Given the description of an element on the screen output the (x, y) to click on. 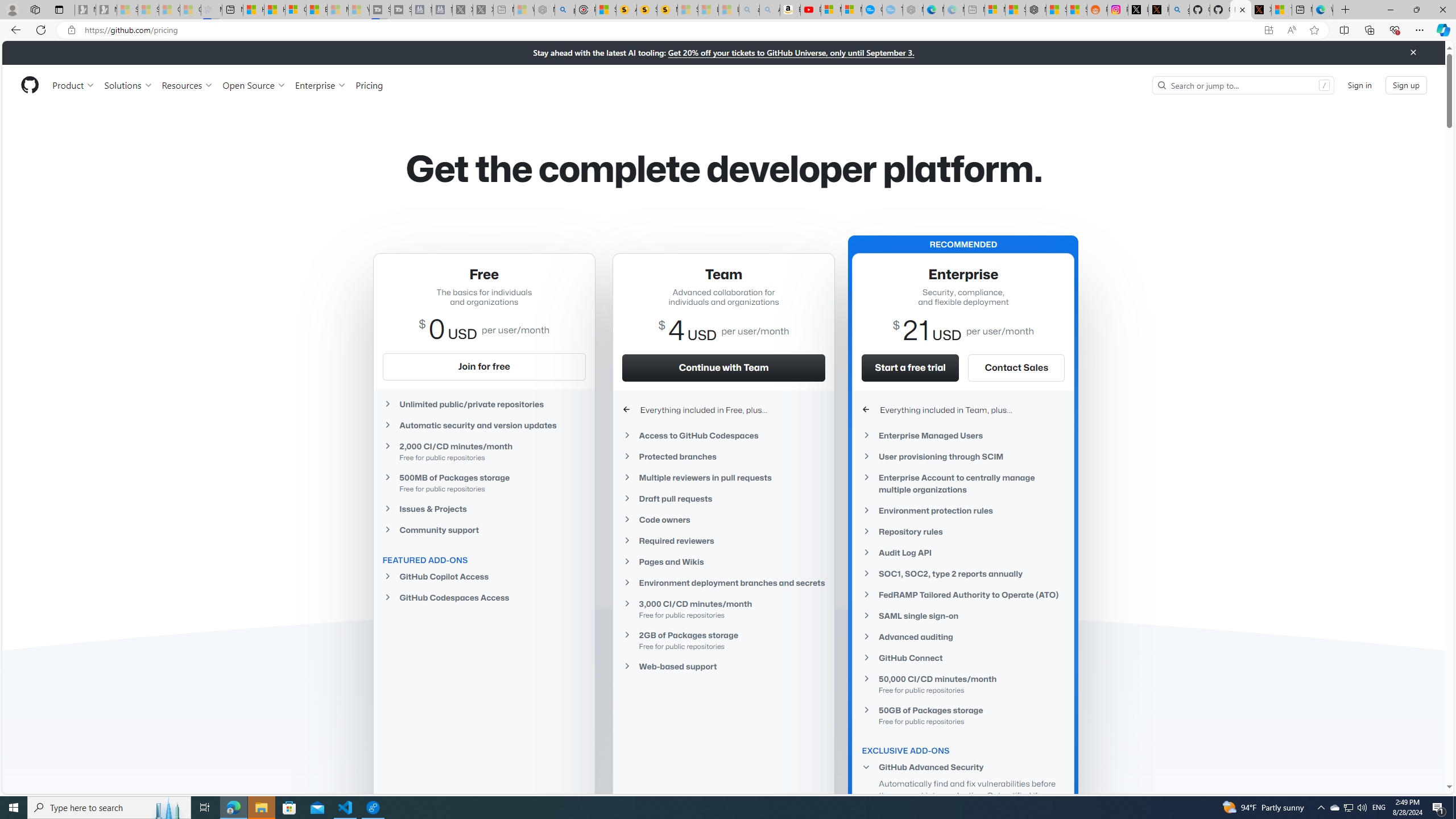
Microsoft account | Microsoft Account Privacy Settings (994, 9)
Welcome to Microsoft Edge (1322, 9)
Draft pull requests (723, 498)
Sign up (1406, 84)
2,000 CI/CD minutes/month Free for public repositories (483, 451)
2GB of Packages storage Free for public repositories (723, 640)
Nordace - Nordace has arrived Hong Kong - Sleeping (913, 9)
50GB of Packages storage Free for public repositories (963, 715)
GitHub Copilot Access (483, 576)
GitHub Codespaces Access (483, 597)
Community support (483, 529)
Pricing (368, 84)
Required reviewers (723, 540)
